Given the description of an element on the screen output the (x, y) to click on. 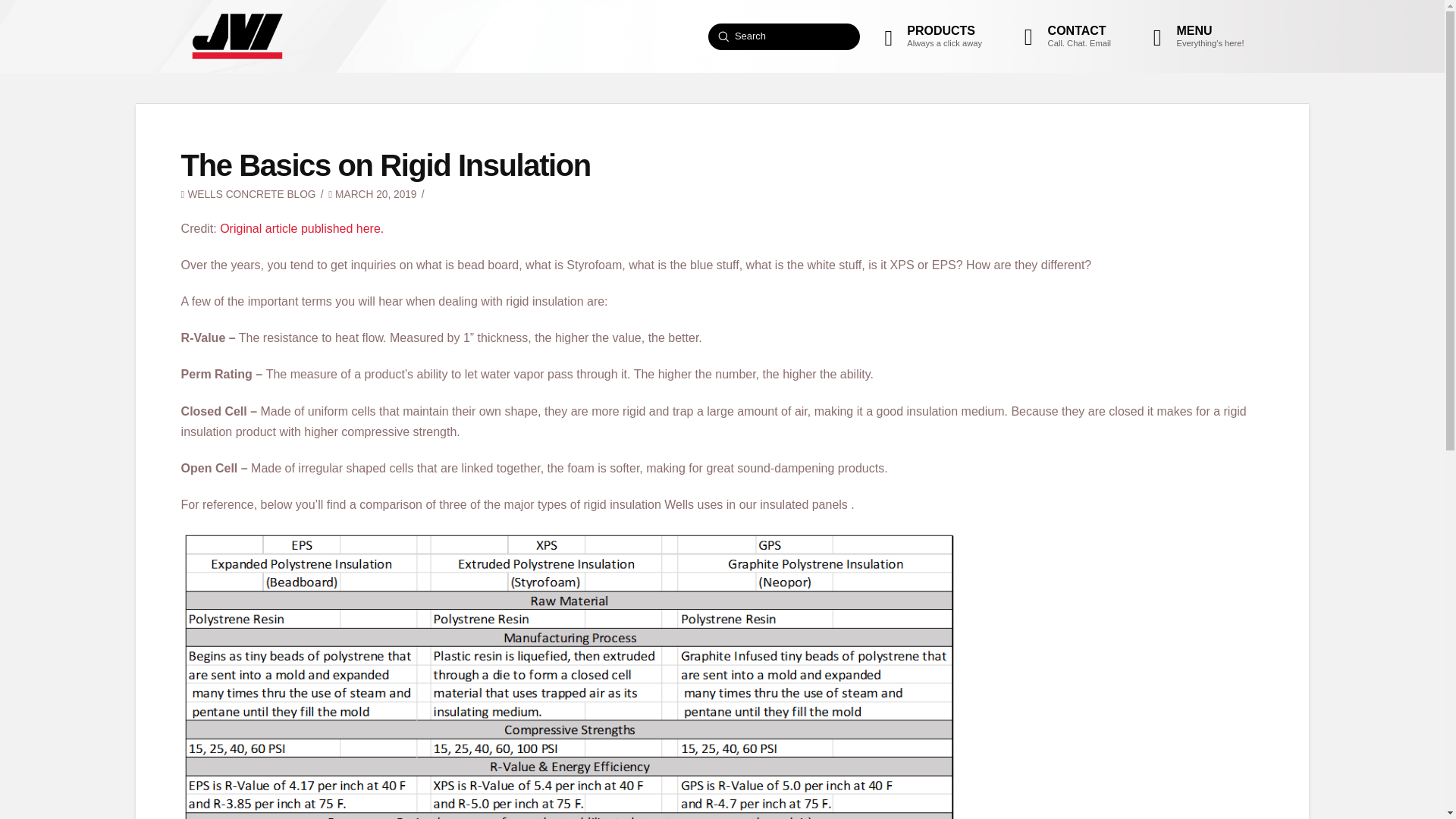
Original article published here. (1063, 35)
Submit (301, 228)
